Given the description of an element on the screen output the (x, y) to click on. 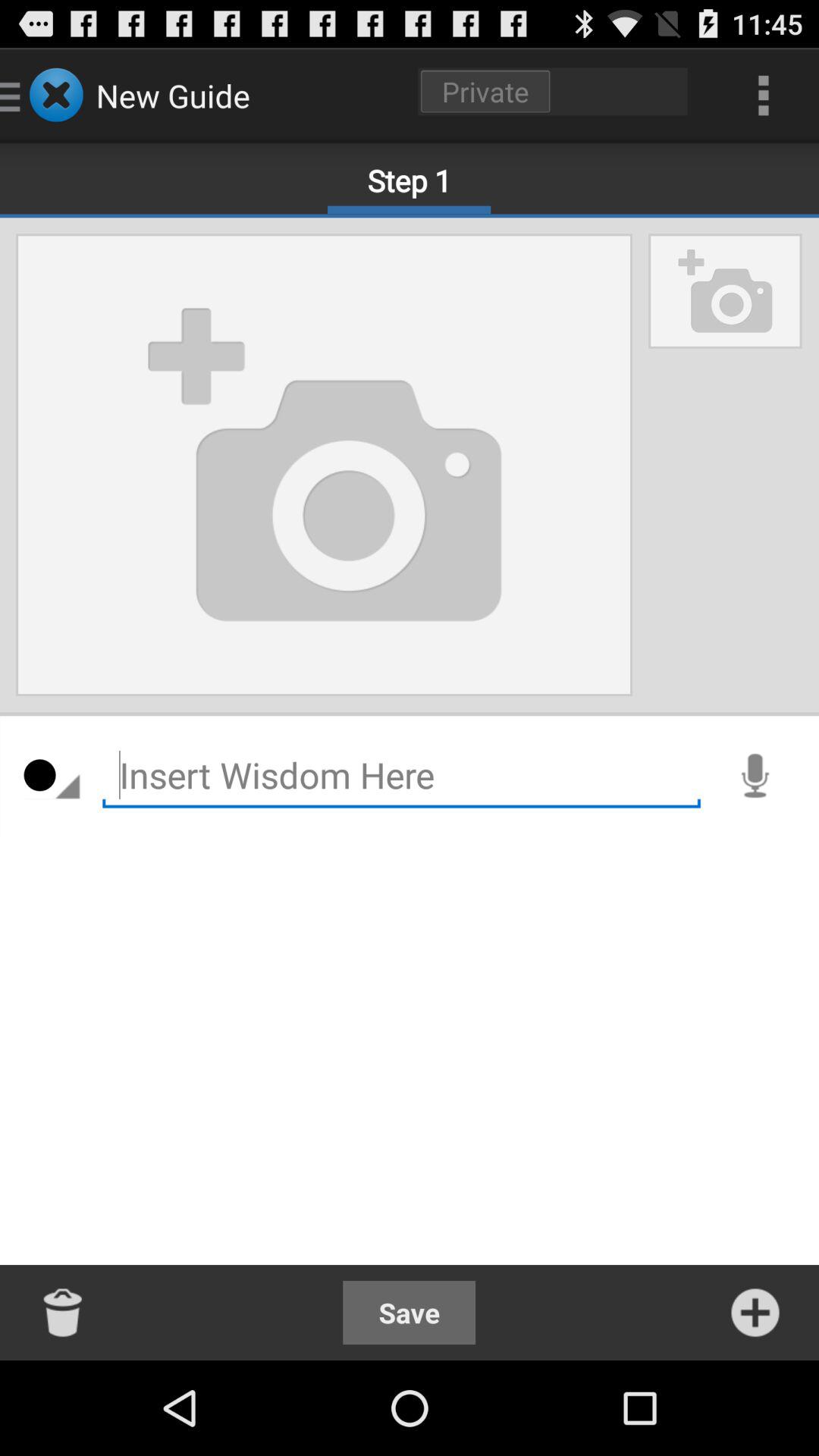
tap the item to the right of the new guide item (552, 91)
